Given the description of an element on the screen output the (x, y) to click on. 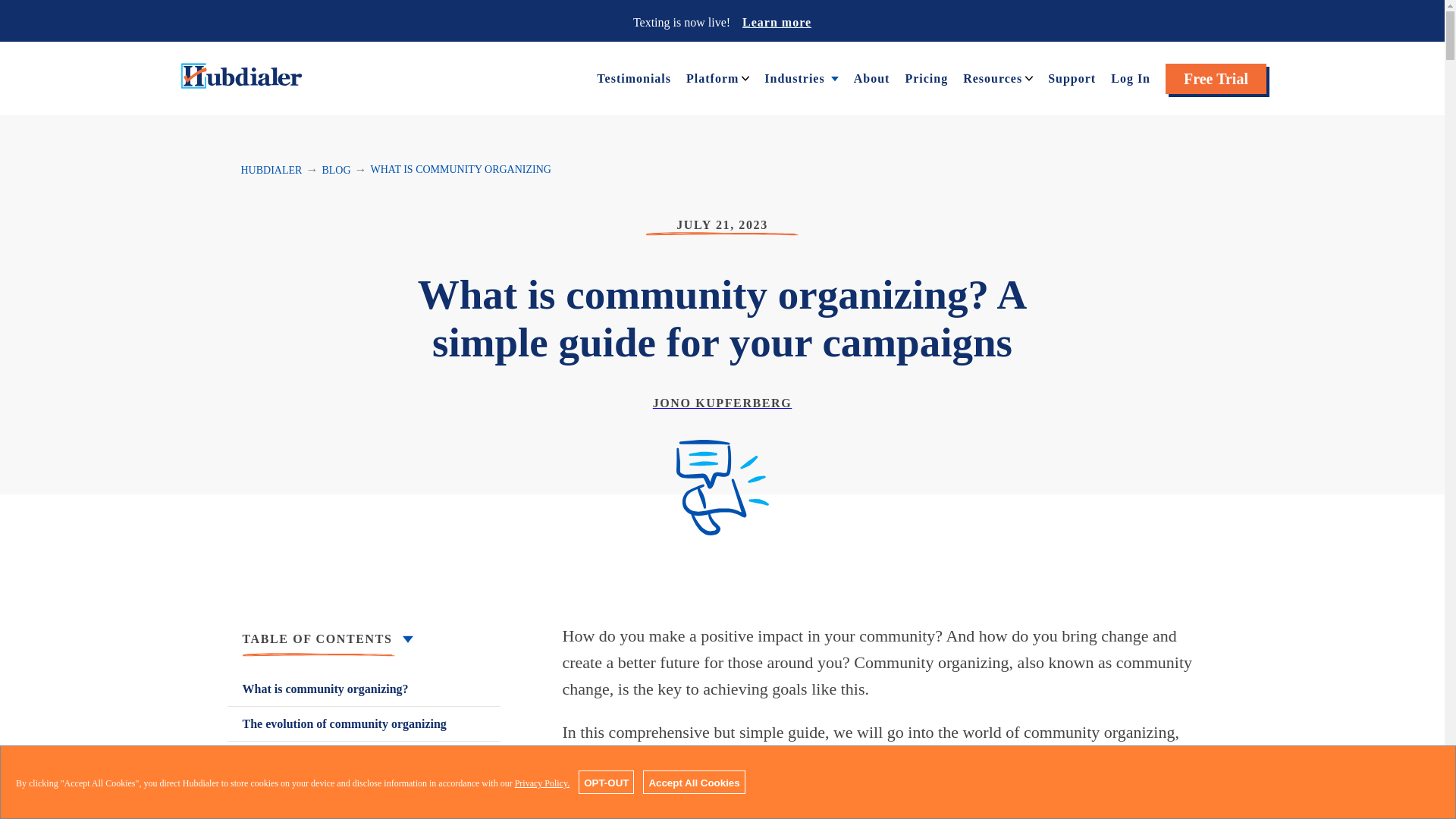
About (871, 77)
Log In (1130, 77)
What is community organizing? (363, 688)
WHAT IS COMMUNITY ORGANIZING (461, 169)
Privacy Policy. (542, 783)
What is the first step in community organizing? (363, 768)
BLOG (335, 170)
Support (1072, 77)
Testimonials (633, 77)
Free Trial (1216, 78)
Industries (794, 77)
Resources (992, 77)
Platform (711, 77)
Pricing (925, 77)
